Given the description of an element on the screen output the (x, y) to click on. 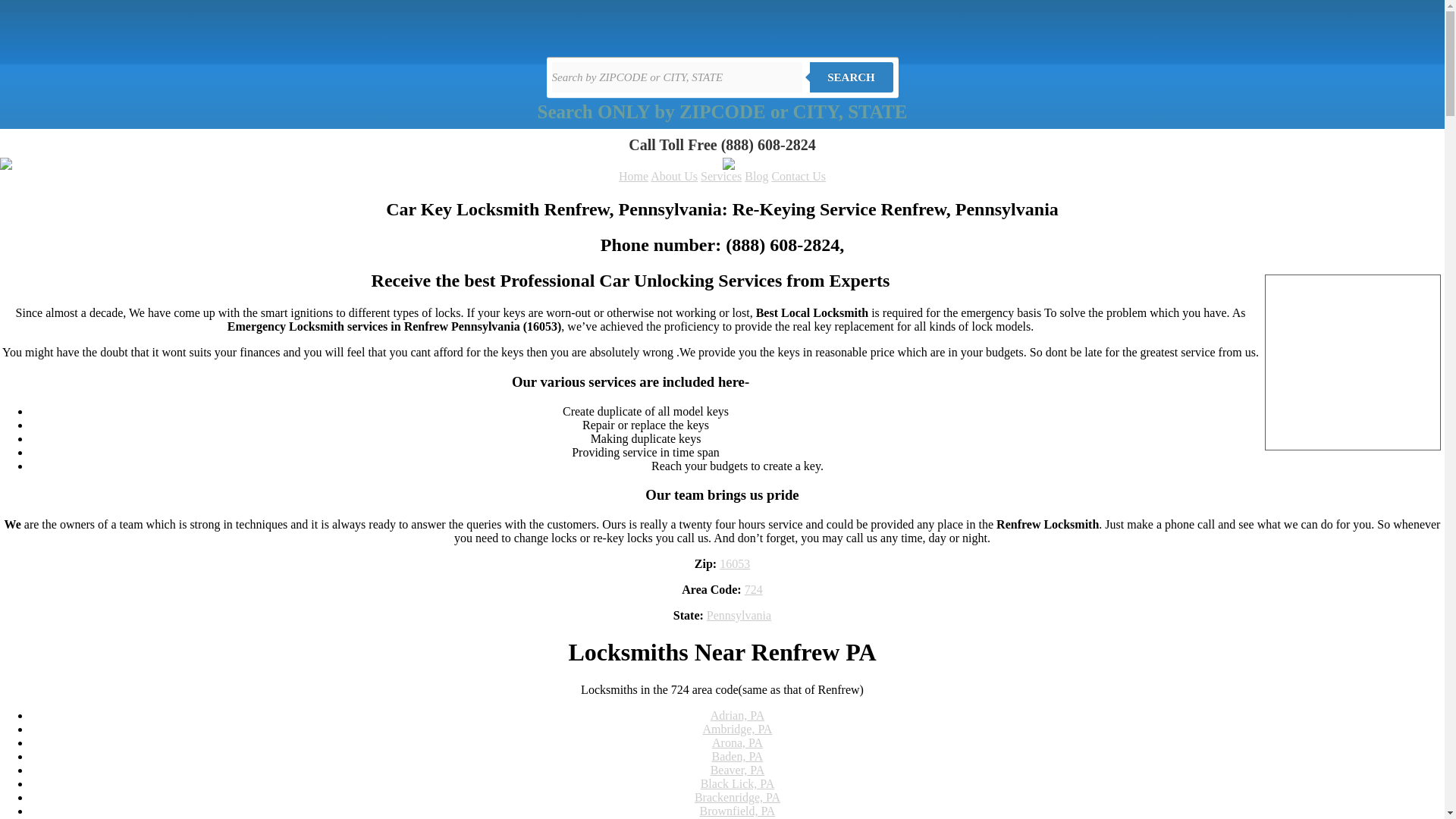
Adrian, PA (737, 715)
724 (753, 589)
Baden, PA (736, 756)
Ambridge, PA (738, 728)
Pennsylvania (738, 615)
Home (632, 175)
Black Lick, PA (737, 783)
16053 (734, 563)
Services (720, 175)
Brownfield, PA (738, 810)
Contact Us (798, 175)
Blog (756, 175)
SEARCH (851, 77)
Brackenridge, PA (737, 797)
Arona, PA (736, 742)
